Given the description of an element on the screen output the (x, y) to click on. 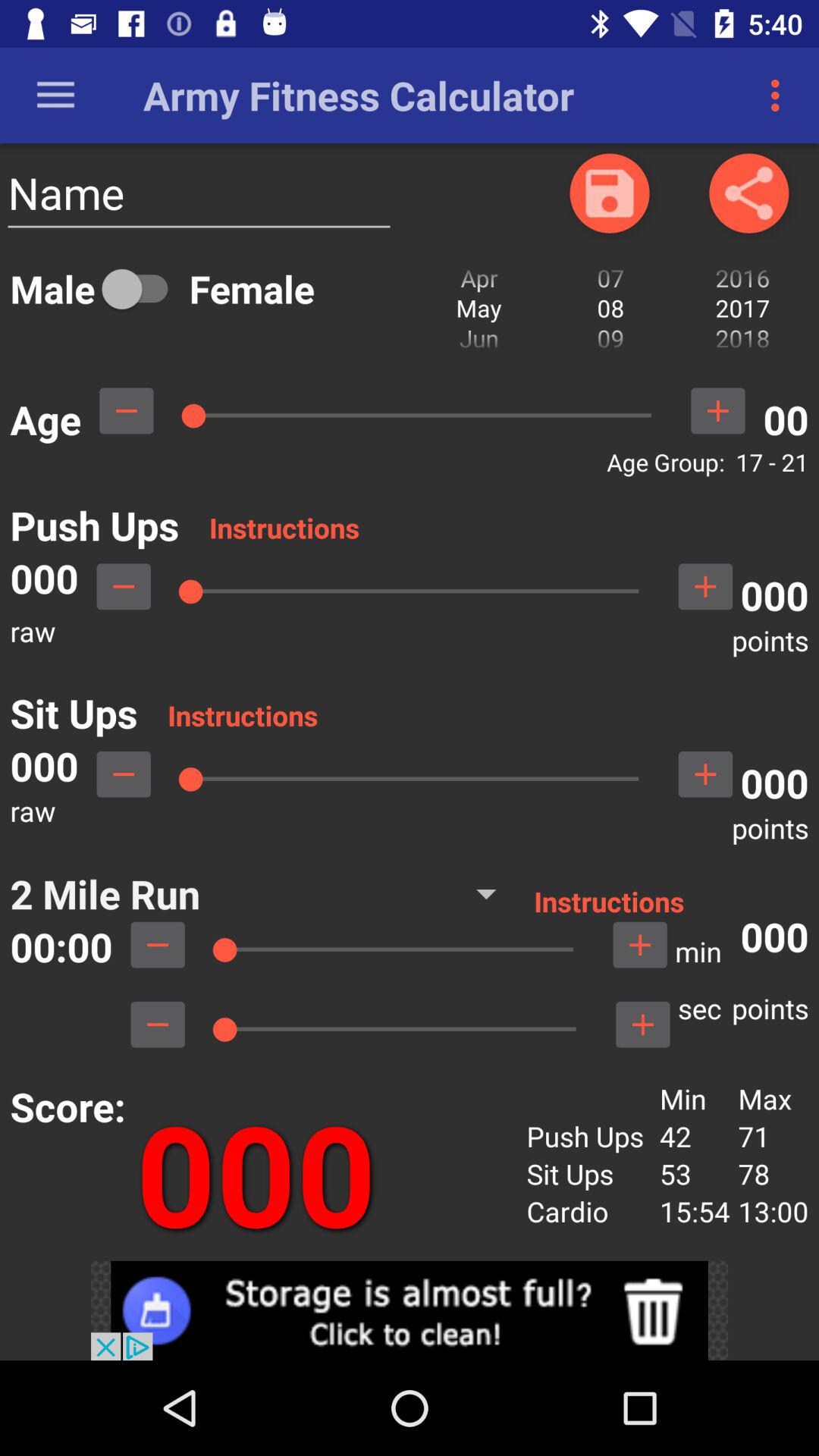
backup data (609, 193)
